Given the description of an element on the screen output the (x, y) to click on. 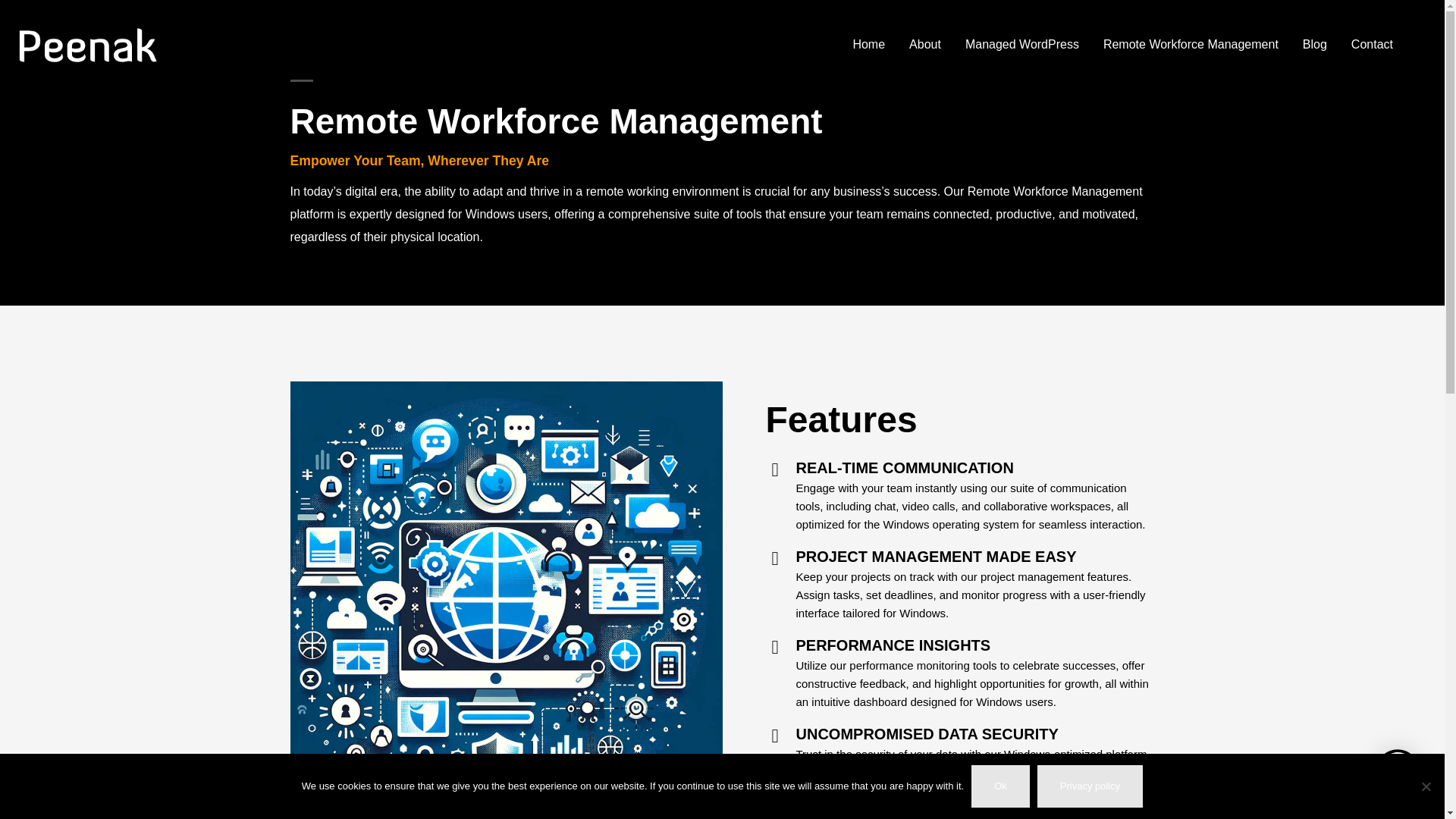
No (1425, 785)
About (924, 44)
Managed WordPress (1021, 44)
Home (868, 44)
Remote Workforce Management (1190, 44)
Ok (1000, 785)
Privacy policy (1089, 785)
Contact (1372, 44)
Blog (1314, 44)
